Given the description of an element on the screen output the (x, y) to click on. 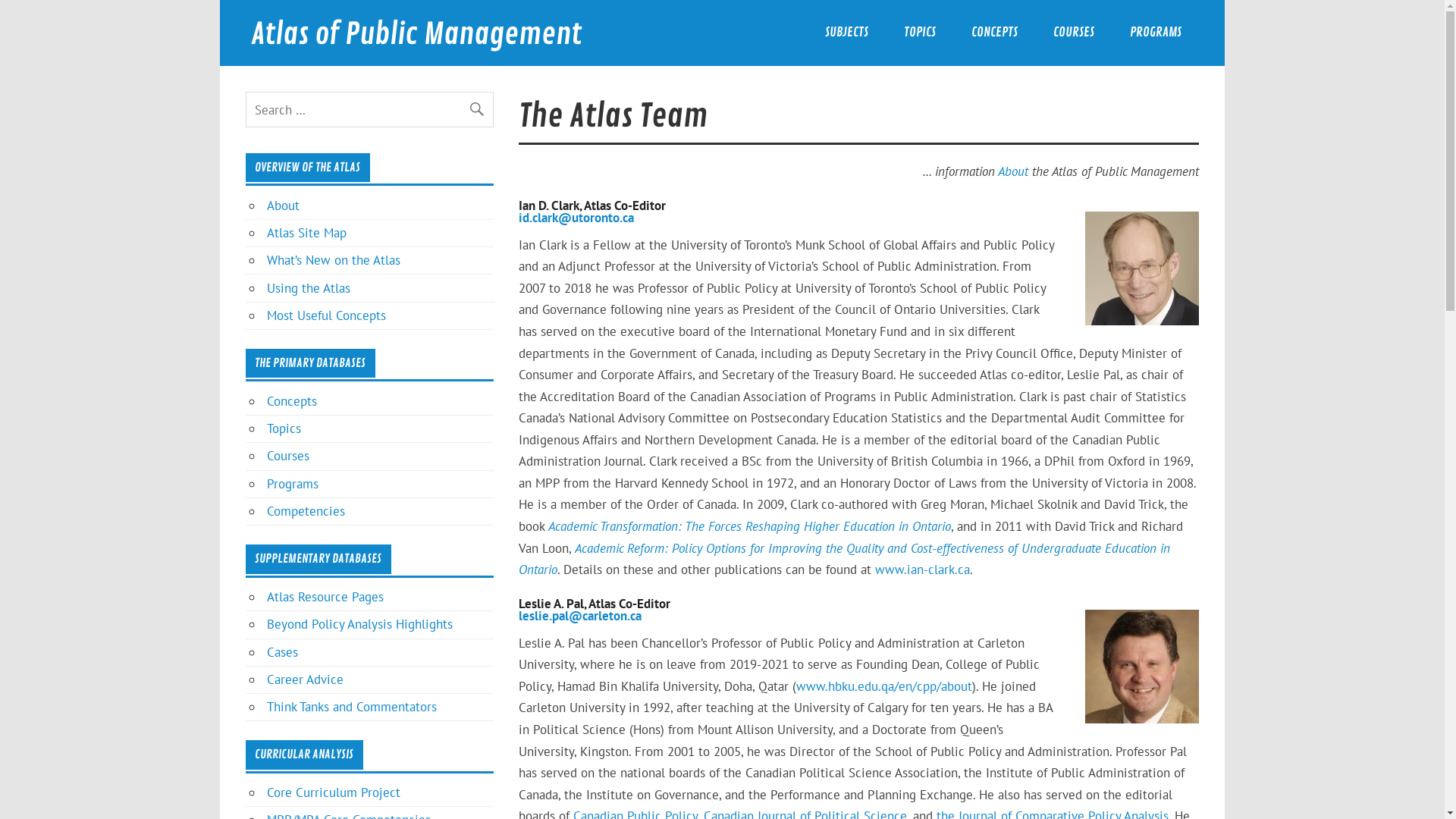
www.ian-clark.ca Element type: text (922, 569)
Atlas Resource Pages Element type: text (324, 596)
Think Tanks and Commentators Element type: text (351, 706)
Courses Element type: text (287, 455)
leslie.pal@carleton.ca Element type: text (579, 615)
Concepts Element type: text (291, 400)
Topics Element type: text (283, 428)
Cases Element type: text (282, 651)
Career Advice Element type: text (304, 679)
id.clark@utoronto.ca Element type: text (575, 217)
Beyond Policy Analysis Highlights Element type: text (359, 623)
TOPICS Element type: text (919, 32)
About Element type: text (282, 205)
Most Useful Concepts Element type: text (325, 315)
www.hbku.edu.qa/en/cpp/about Element type: text (884, 685)
Competencies Element type: text (305, 510)
Atlas of Public Management Element type: text (416, 34)
Programs Element type: text (292, 483)
Using the Atlas Element type: text (308, 287)
Atlas Site Map Element type: text (306, 232)
About Element type: text (1012, 171)
Core Curriculum Project Element type: text (333, 792)
COURSES Element type: text (1073, 32)
SUBJECTS Element type: text (845, 32)
CONCEPTS Element type: text (994, 32)
PROGRAMS Element type: text (1154, 32)
